Given the description of an element on the screen output the (x, y) to click on. 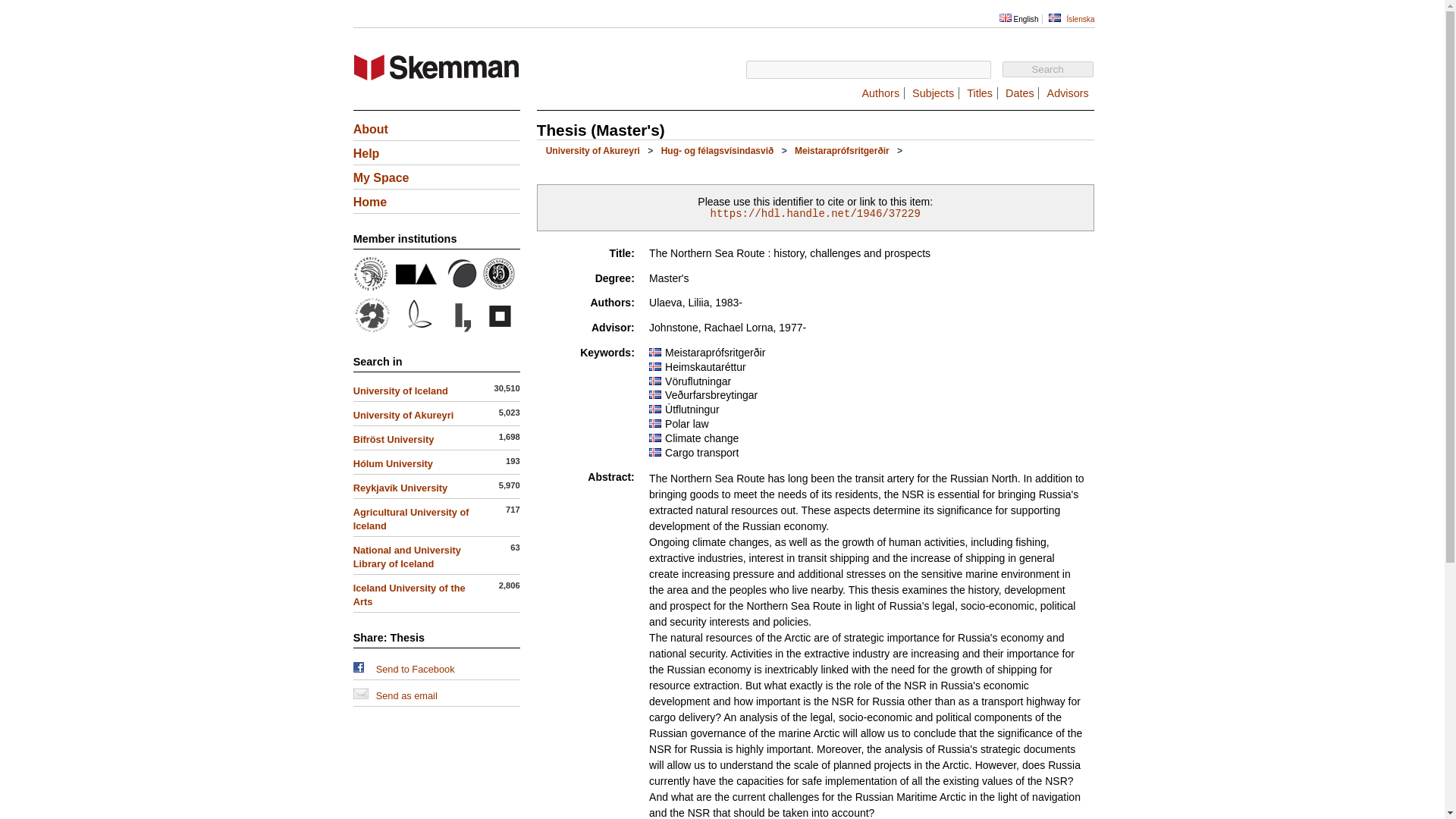
University of Akureyri (403, 414)
Send as email (360, 692)
Keywords is in Icelandic (657, 351)
National and University Library of Iceland  (460, 328)
Subjects (932, 92)
Ulaeva, Liliia, 1983- (695, 302)
Johnstone, Rachael Lorna, 1977- (727, 327)
Agricultural University of Iceland (410, 518)
National and University Library of Iceland (407, 556)
Send to Facebook (414, 668)
